Given the description of an element on the screen output the (x, y) to click on. 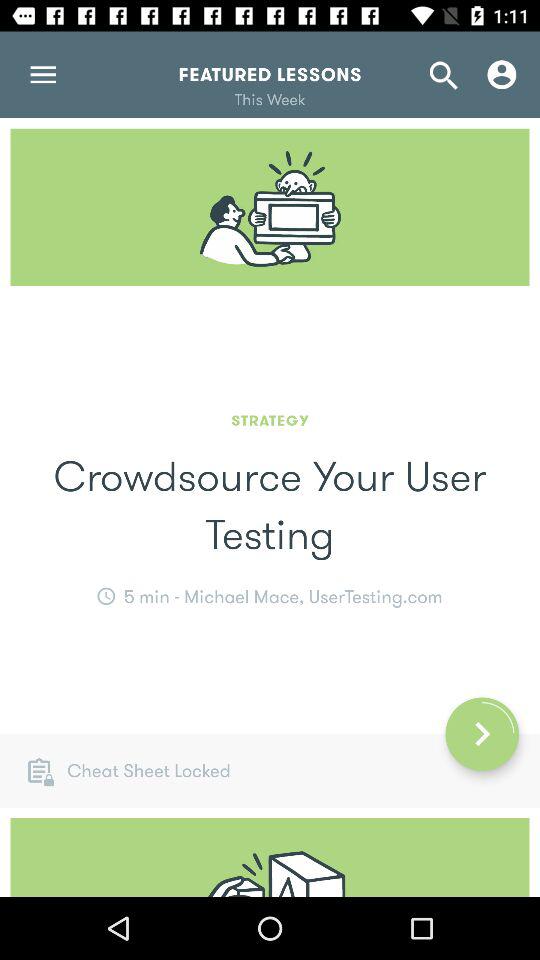
click on button right to search button (501, 74)
